Given the description of an element on the screen output the (x, y) to click on. 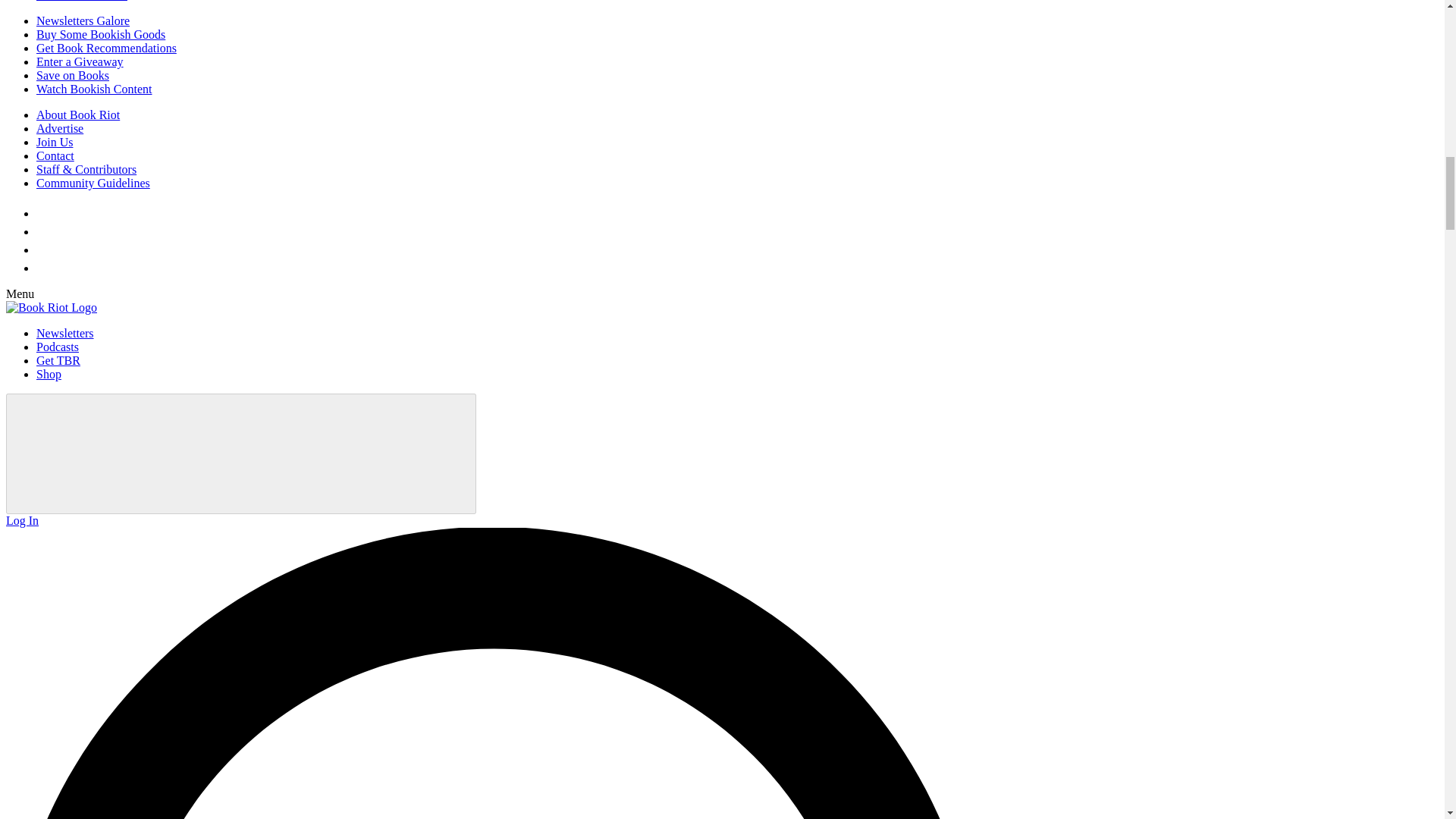
Contact (55, 155)
Get Book Recommendations (106, 47)
Get TBR (58, 359)
Community Guidelines (92, 182)
About Book Riot (77, 114)
Newsletters (65, 332)
Advertise (59, 128)
Newsletters Galore (82, 20)
Podcasts (57, 346)
Buy Some Bookish Goods (100, 33)
